Given the description of an element on the screen output the (x, y) to click on. 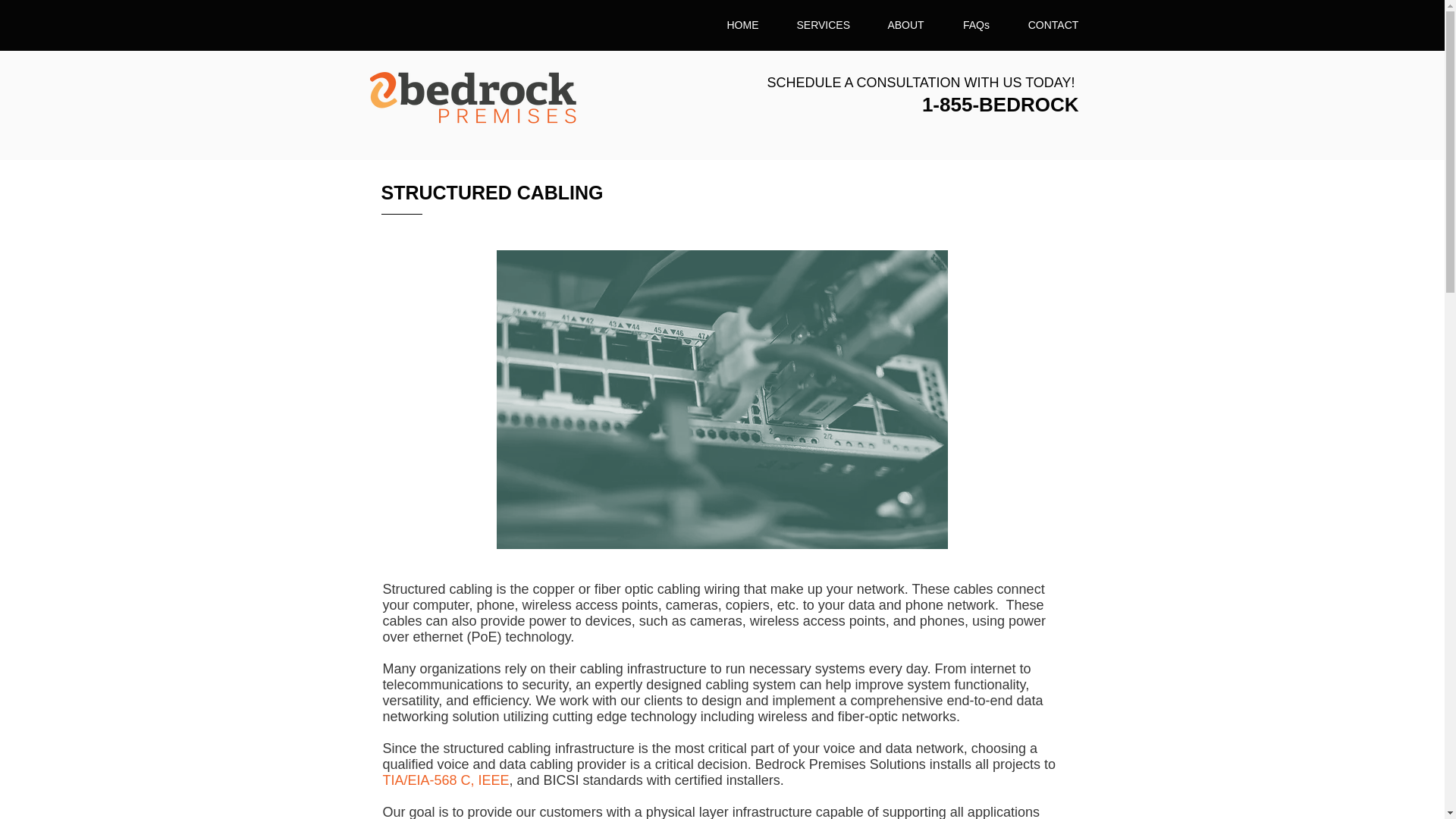
CONTACT (1053, 24)
HOME (742, 24)
ABOUT (905, 24)
FAQs (976, 24)
